Given the description of an element on the screen output the (x, y) to click on. 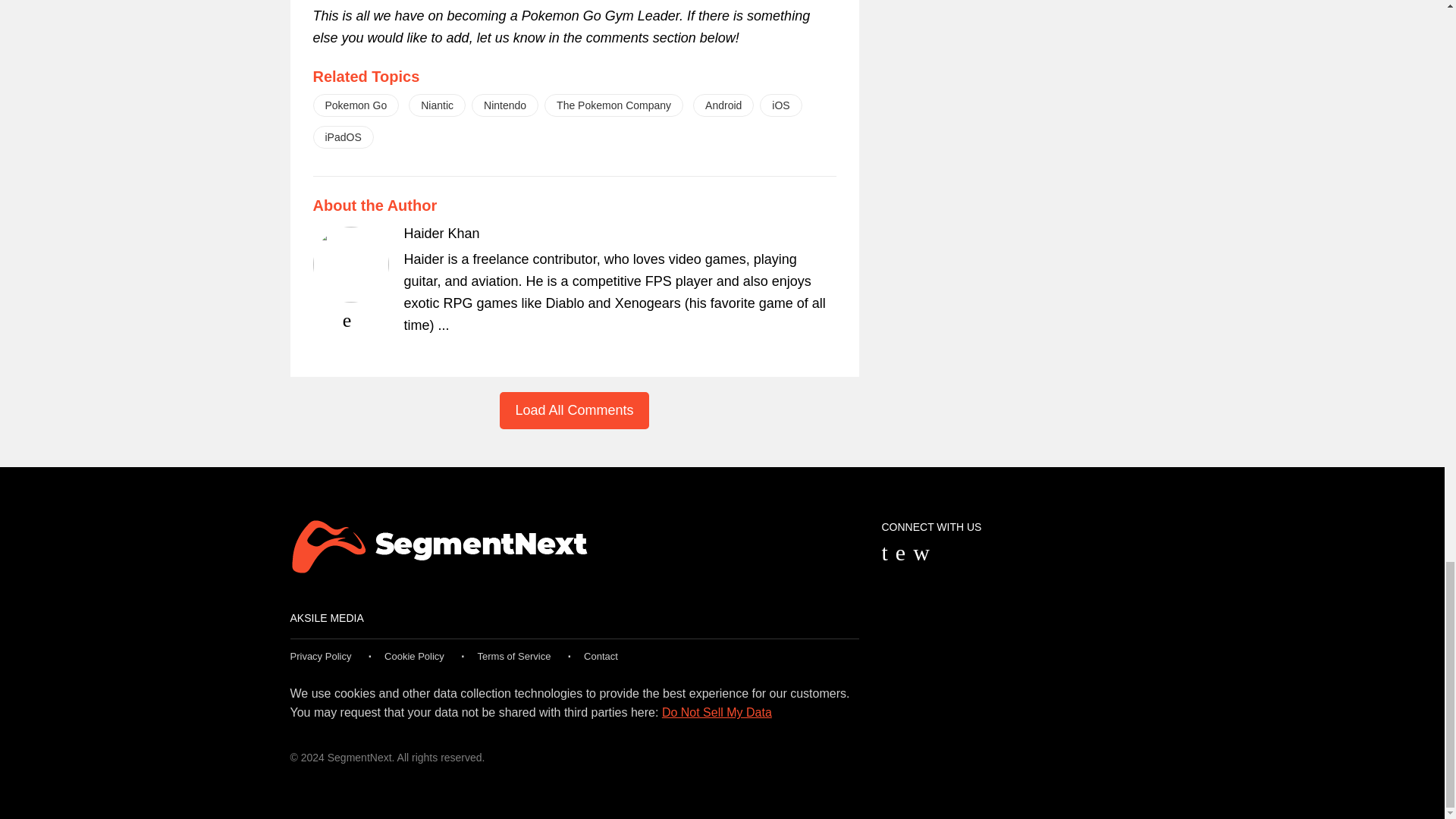
Android (723, 105)
iOS (781, 105)
Haider Khan (441, 233)
The Pokemon Company (613, 105)
Nintendo (504, 105)
iPadOS (342, 137)
Pokemon Go (355, 105)
Niantic (437, 105)
